Given the description of an element on the screen output the (x, y) to click on. 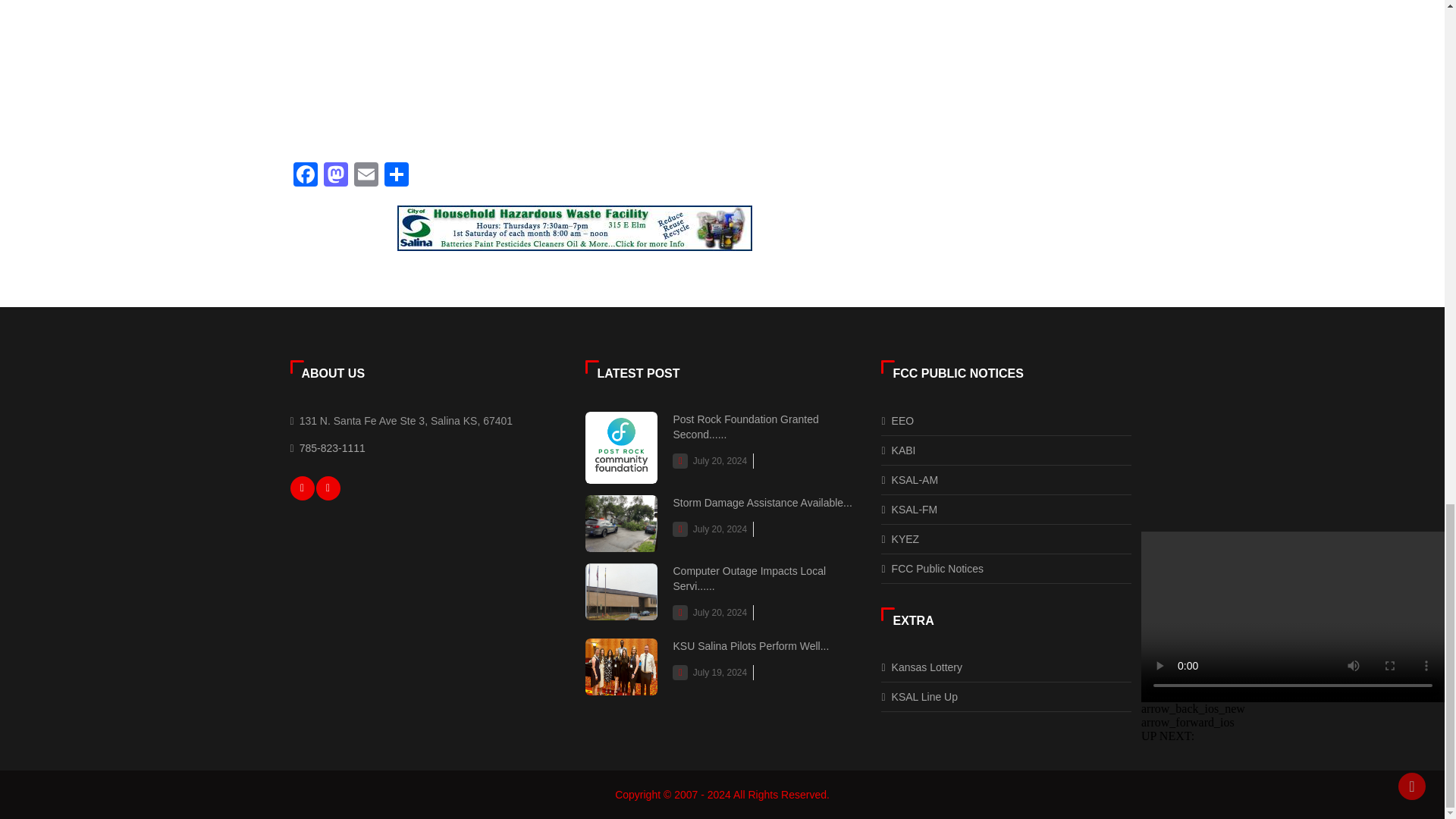
Twitter (327, 487)
Facebook (301, 487)
Mastodon (335, 176)
Email (365, 176)
City of Salina (574, 227)
Facebook (304, 176)
